Given the description of an element on the screen output the (x, y) to click on. 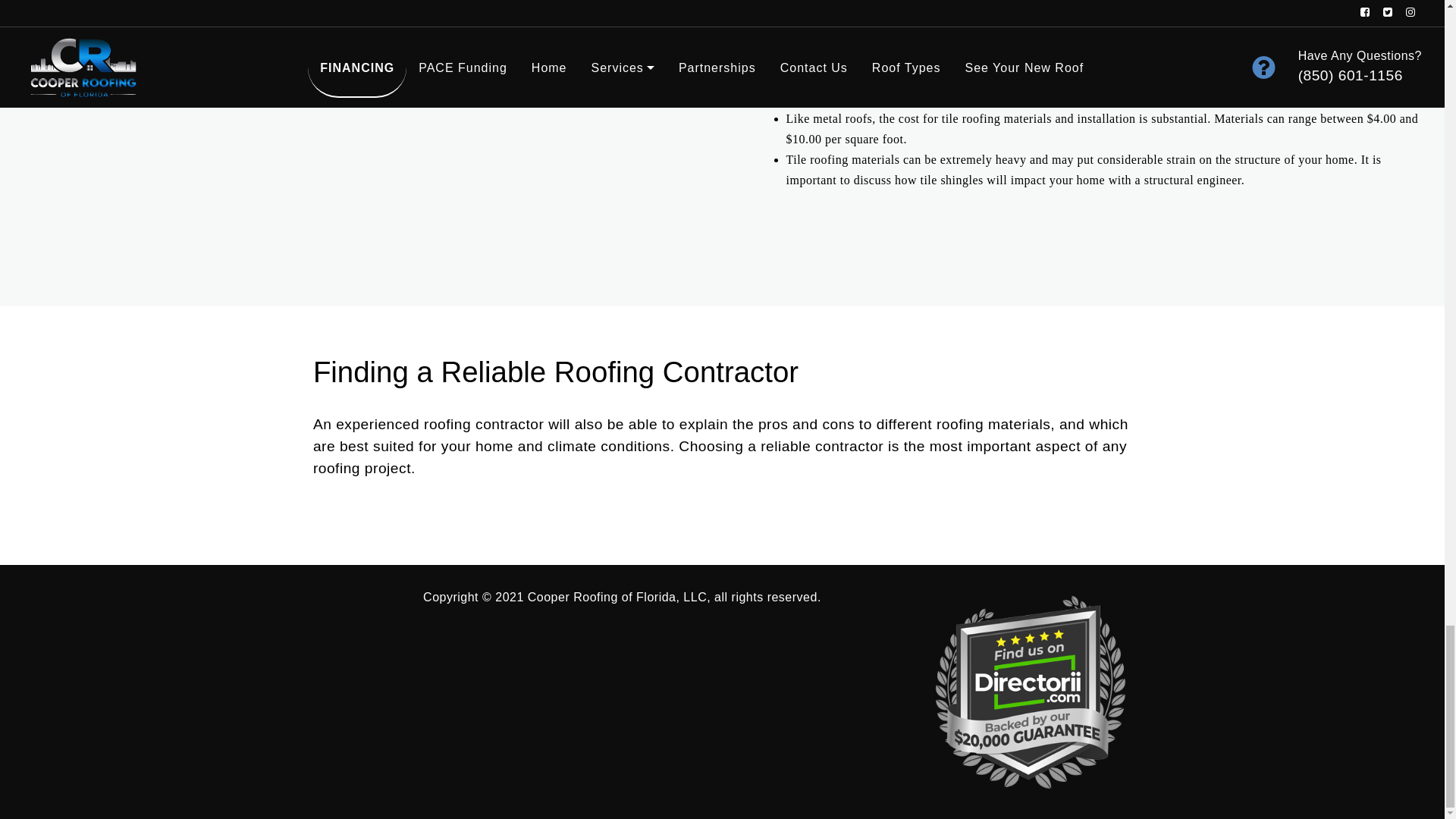
Cooper Roofing Of Florida Profile (1029, 691)
